Given the description of an element on the screen output the (x, y) to click on. 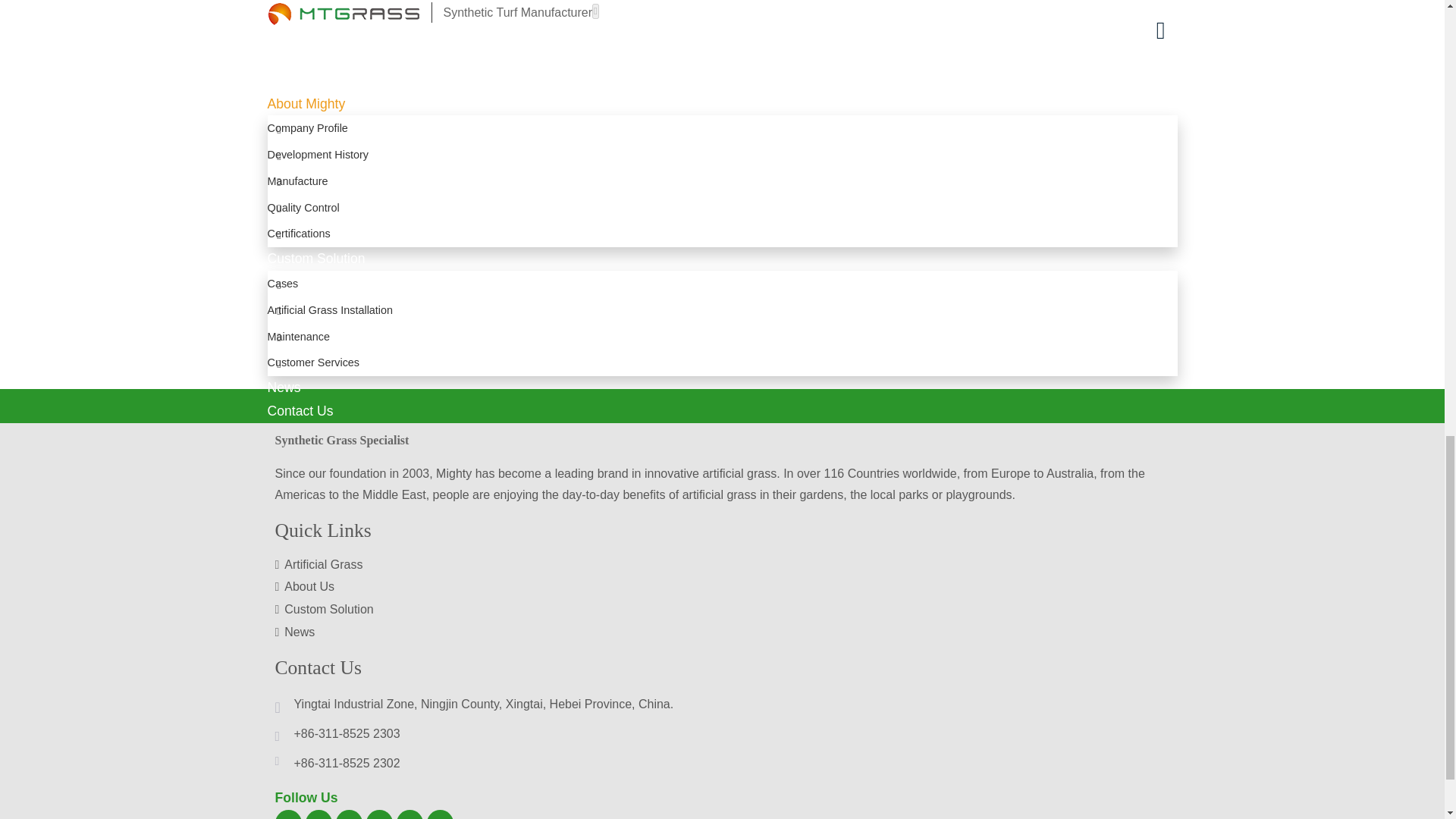
Custom Solution (722, 609)
Artificial Grass (722, 564)
Residential Artificial Grass (1064, 4)
About Us (722, 587)
Commercial Artificial Grass (835, 4)
Contact Us (318, 667)
Golf Turf (607, 124)
Tennis Turf (379, 124)
News (722, 631)
